Given the description of an element on the screen output the (x, y) to click on. 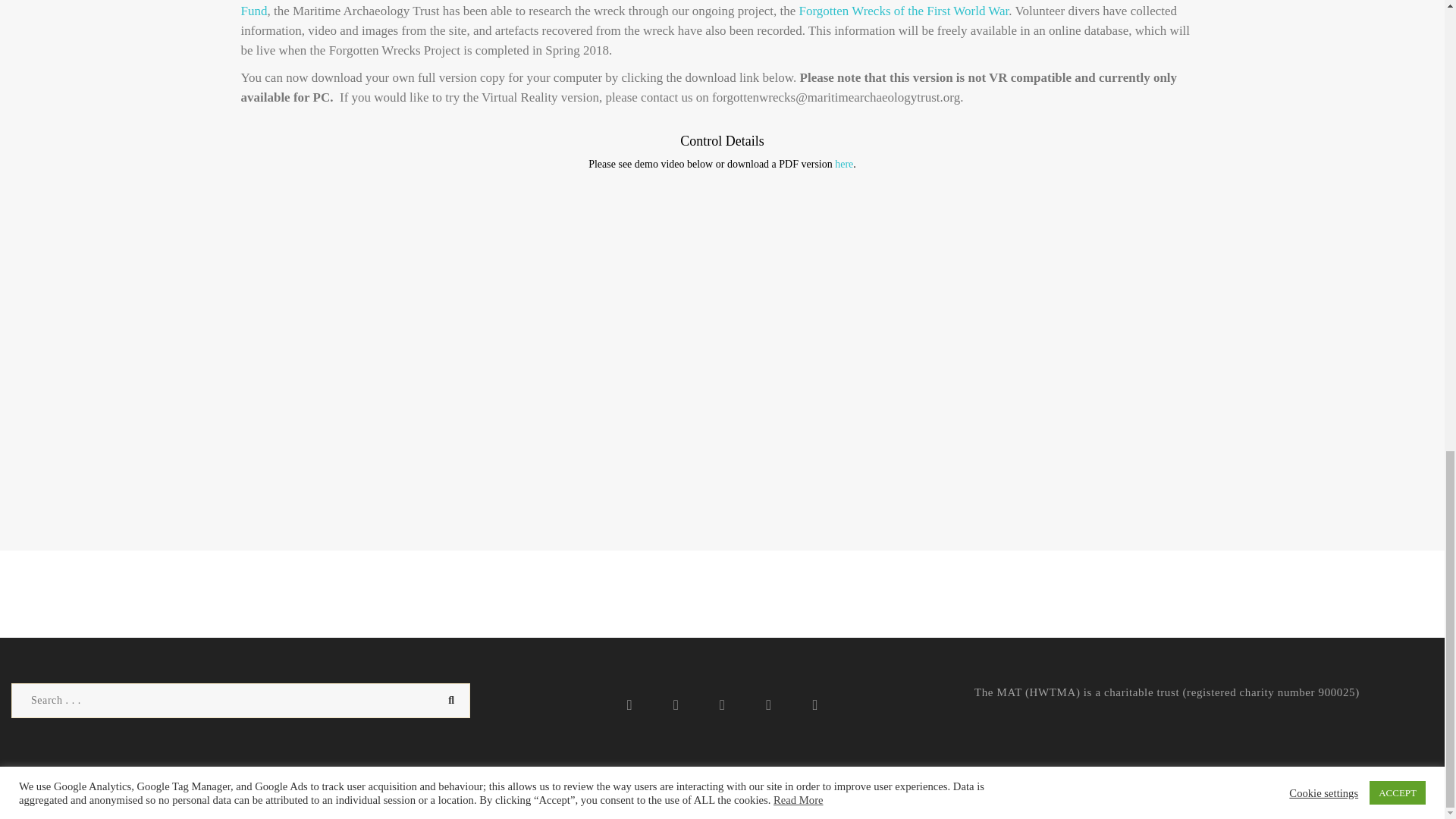
Maritime Archaeology Trust on Instagram (814, 705)
Maritime Archaeology Trust on Linkedin (722, 705)
Maritime Archaeology Trust on Facebook (629, 705)
Maritime Archaeology Trust on Youtube (769, 705)
Maritime Archaeology Trust on Twitter (675, 705)
